Given the description of an element on the screen output the (x, y) to click on. 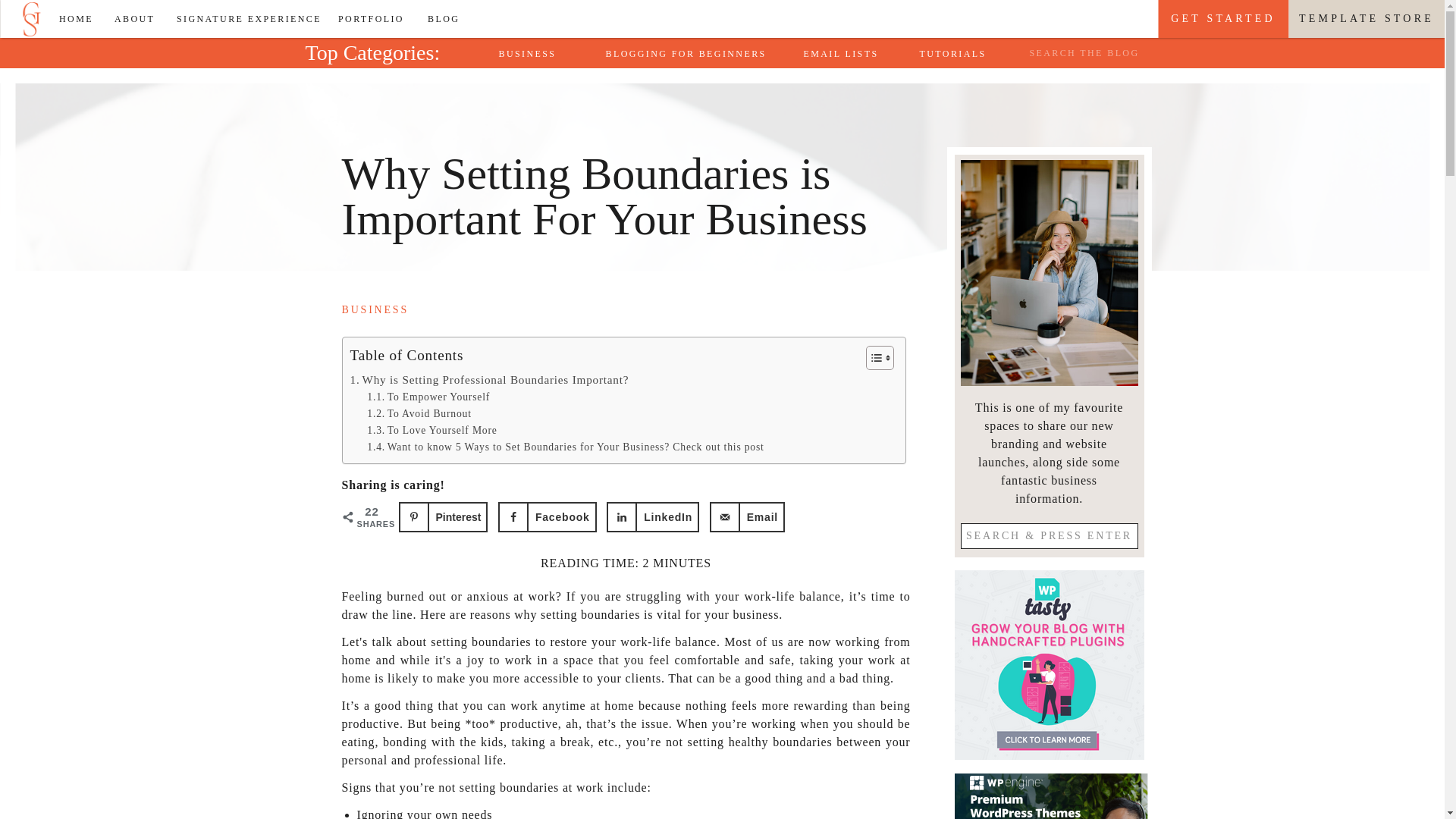
To Love Yourself More (431, 430)
To Avoid Burnout (418, 413)
To Love Yourself More (431, 430)
Email (747, 517)
To Empower Yourself (427, 397)
BUSINESS (536, 52)
To Avoid Burnout (418, 413)
HOME (79, 18)
Facebook (546, 517)
GET STARTED (1222, 18)
Send over email (747, 517)
Share on Facebook (546, 517)
TUTORIALS (955, 52)
PORTFOLIO (375, 18)
